Given the description of an element on the screen output the (x, y) to click on. 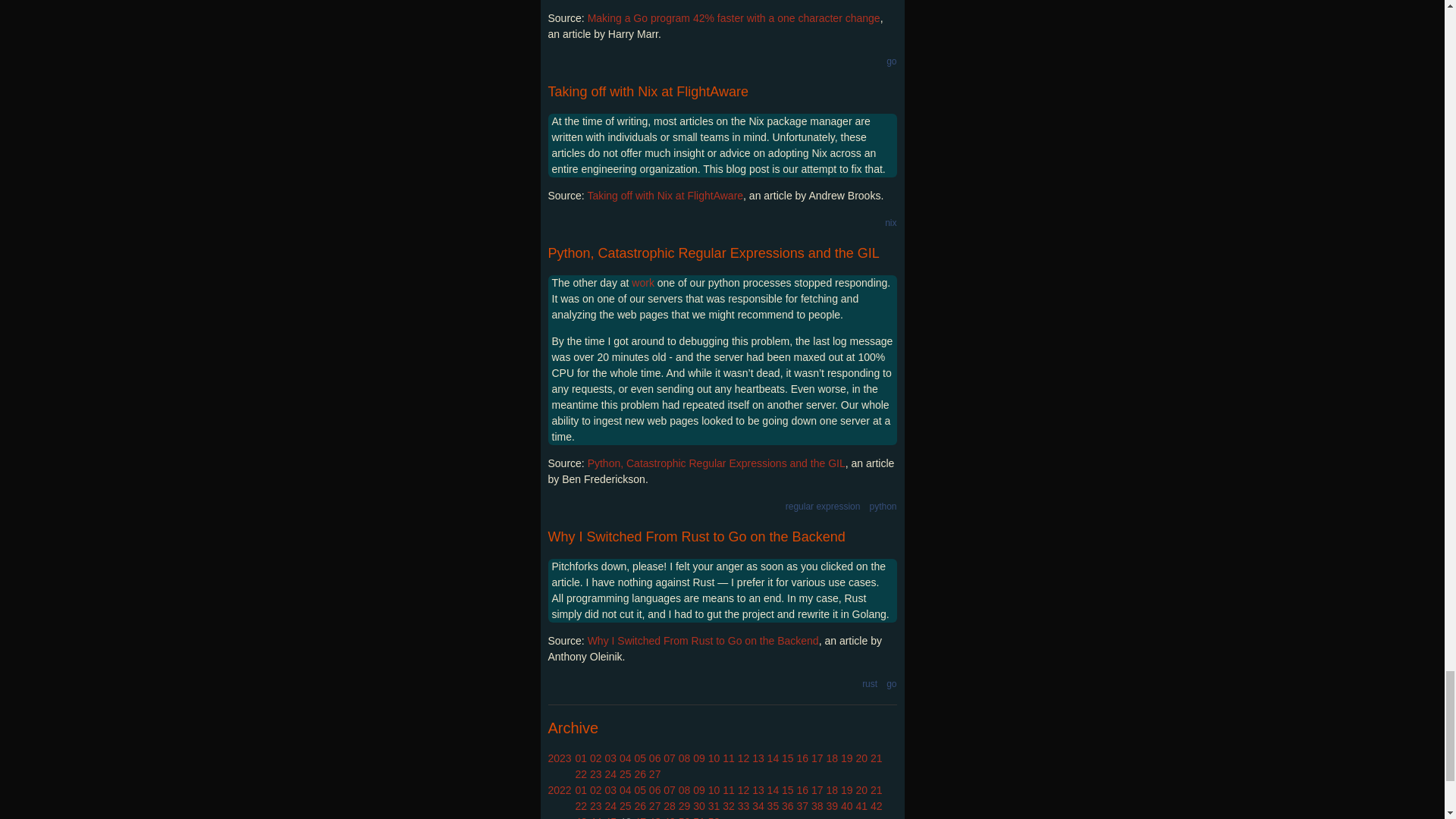
week 08, 2023 (684, 758)
week 11, 2023 (728, 758)
week 06, 2023 (655, 758)
week 02, 2023 (595, 758)
week 05, 2023 (639, 758)
week 03, 2023 (609, 758)
week 04, 2023 (625, 758)
week 01, 2023 (580, 758)
week 10, 2023 (713, 758)
week 09, 2023 (698, 758)
